Given the description of an element on the screen output the (x, y) to click on. 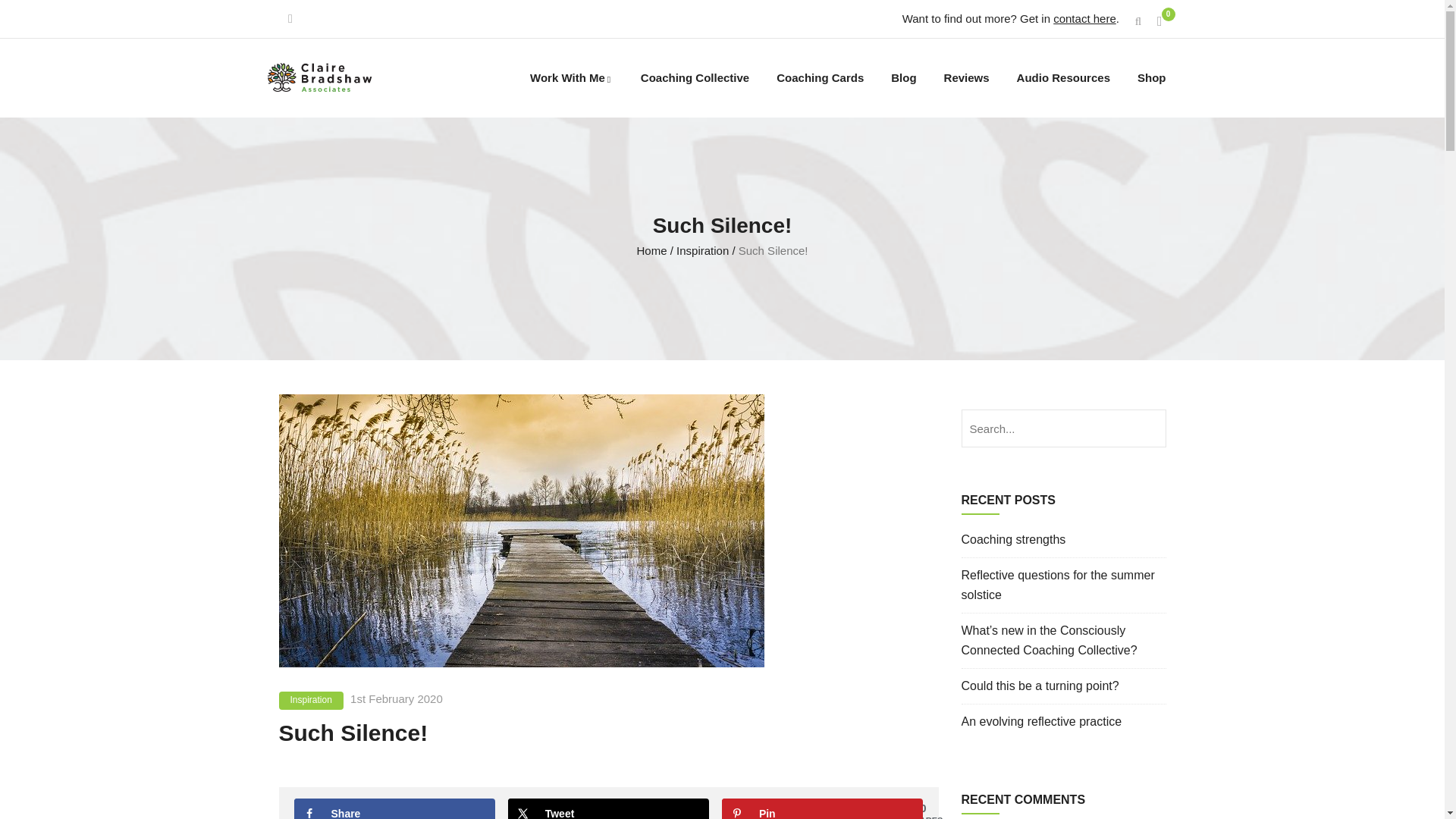
Save to Pinterest (822, 808)
Share on Facebook (395, 808)
Work With Me (571, 77)
Share on X (609, 808)
contact here (1084, 18)
